Given the description of an element on the screen output the (x, y) to click on. 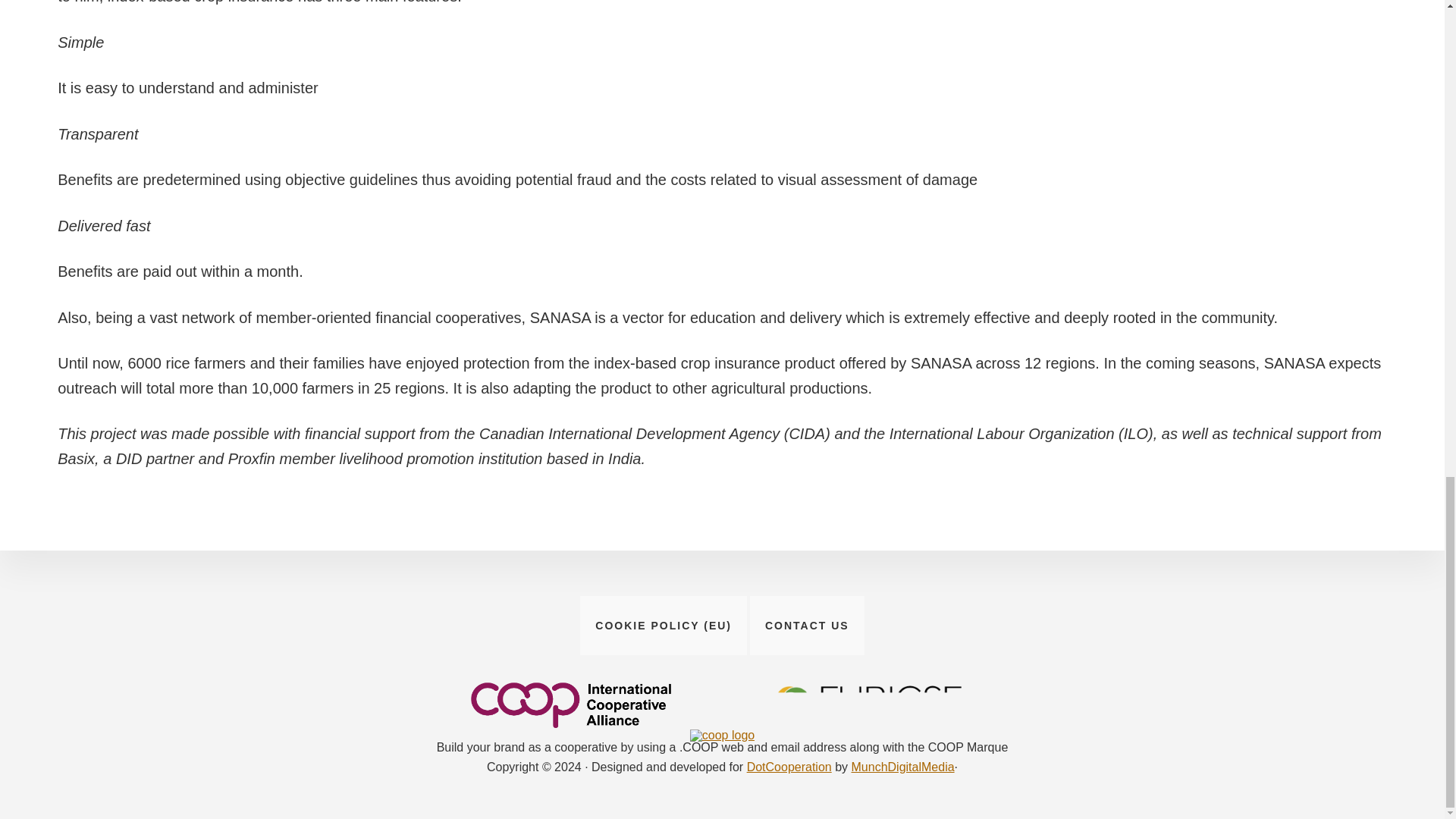
CONTACT US (806, 625)
MunchDigitalMedia (903, 766)
DotCooperation (788, 766)
